Given the description of an element on the screen output the (x, y) to click on. 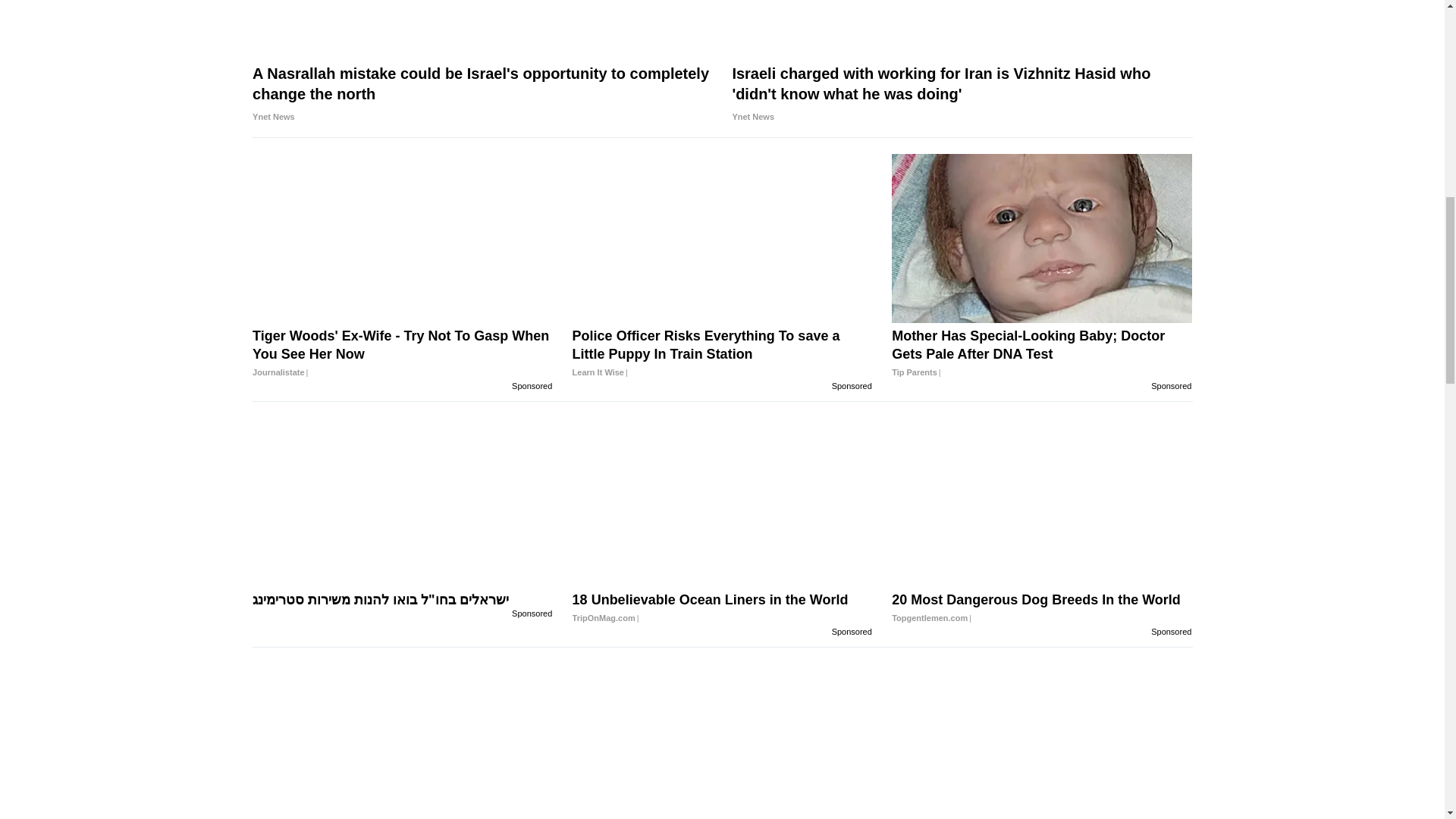
Tiger Woods' Ex-Wife - Try Not To Gasp When You See Her Now (402, 353)
20 Most Dangerous Dog Breeds In the World (1041, 608)
18 Unbelievable Ocean Liners in the World (722, 608)
